Given the description of an element on the screen output the (x, y) to click on. 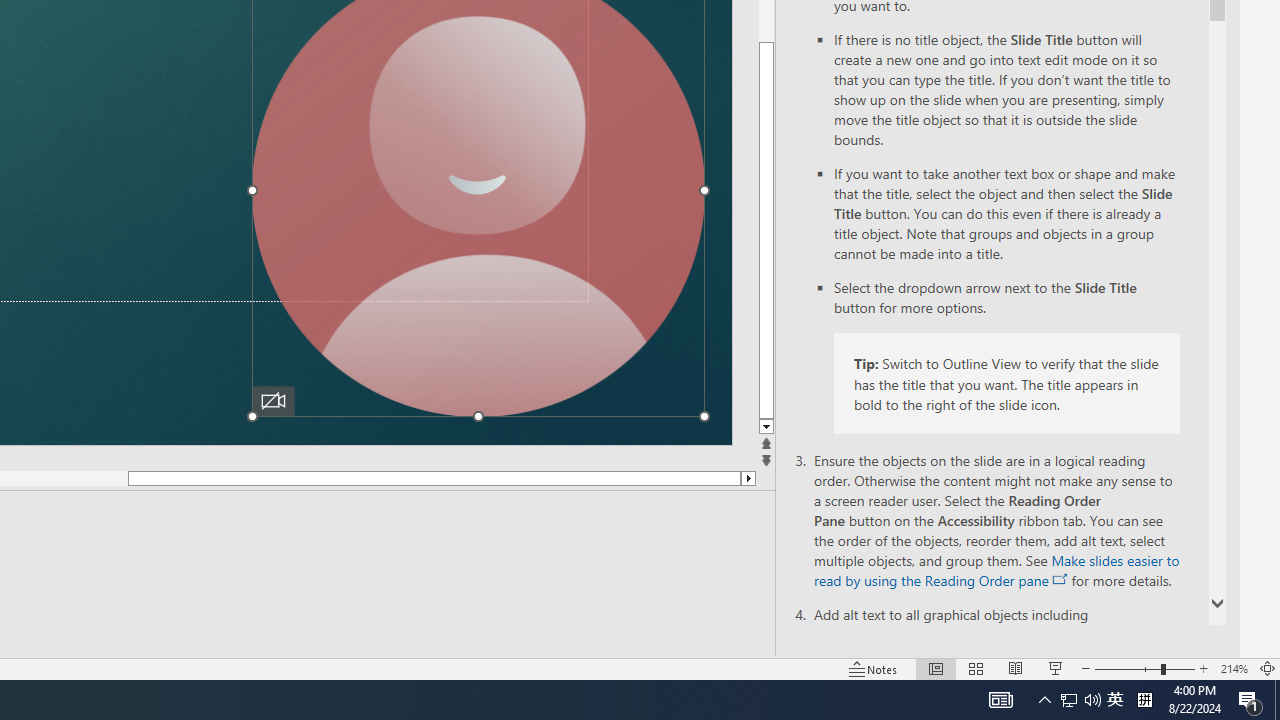
openinnewwindow (1060, 579)
Zoom 214% (1234, 668)
